Given the description of an element on the screen output the (x, y) to click on. 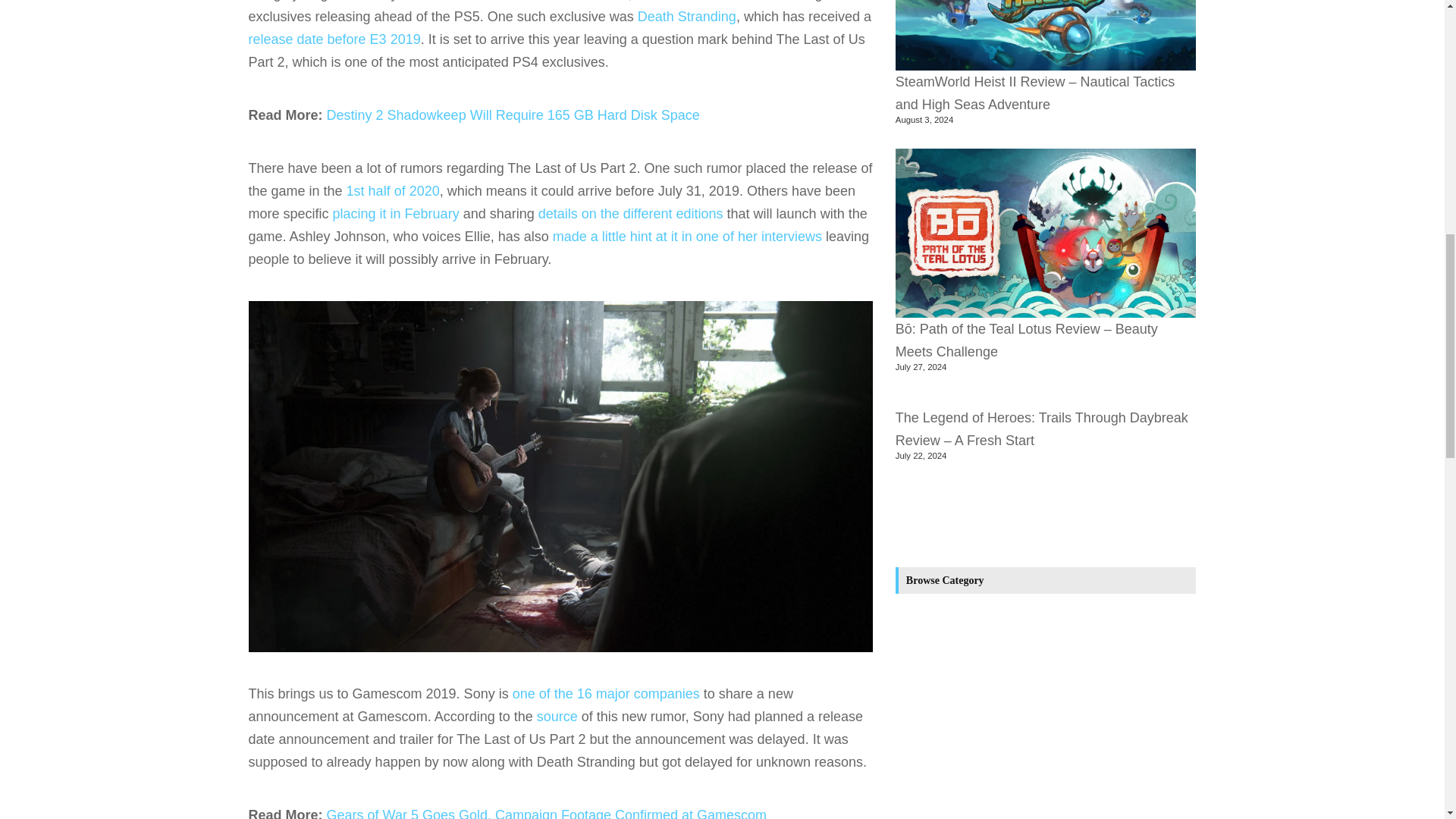
made a little hint at it in one of her interviews (687, 236)
Death Stranding (686, 16)
hard at work (439, 0)
1st half of 2020 (392, 191)
Destiny 2 Shadowkeep Will Require 165 GB Hard Disk Space (513, 114)
details on the different editions (630, 213)
release date before E3 2019 (334, 38)
source (557, 716)
placing it in February (396, 213)
